Given the description of an element on the screen output the (x, y) to click on. 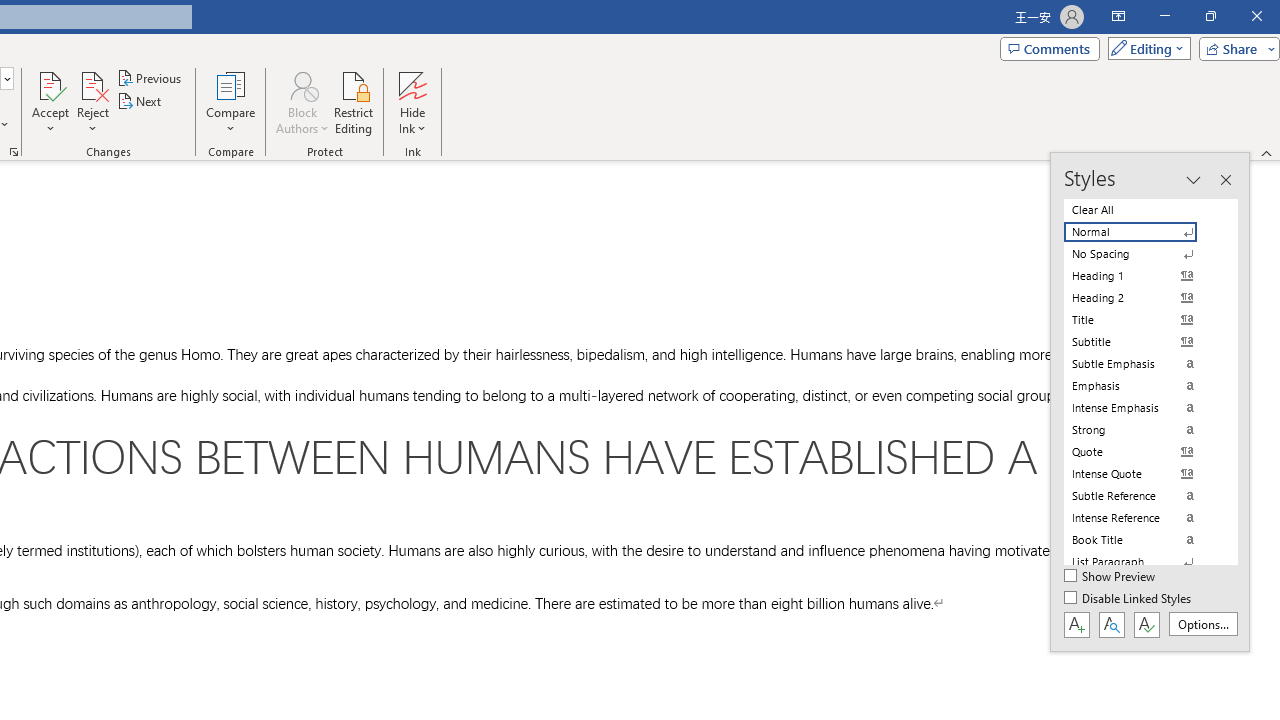
Subtle Reference (1142, 495)
Subtitle (1142, 341)
Change Tracking Options... (13, 151)
Emphasis (1142, 385)
Title (1142, 319)
Accept (50, 102)
Options... (1202, 623)
Class: MsoCommandBar (1149, 401)
Class: NetUIButton (1146, 624)
Editing (1144, 47)
Restrict Editing (353, 102)
